Given the description of an element on the screen output the (x, y) to click on. 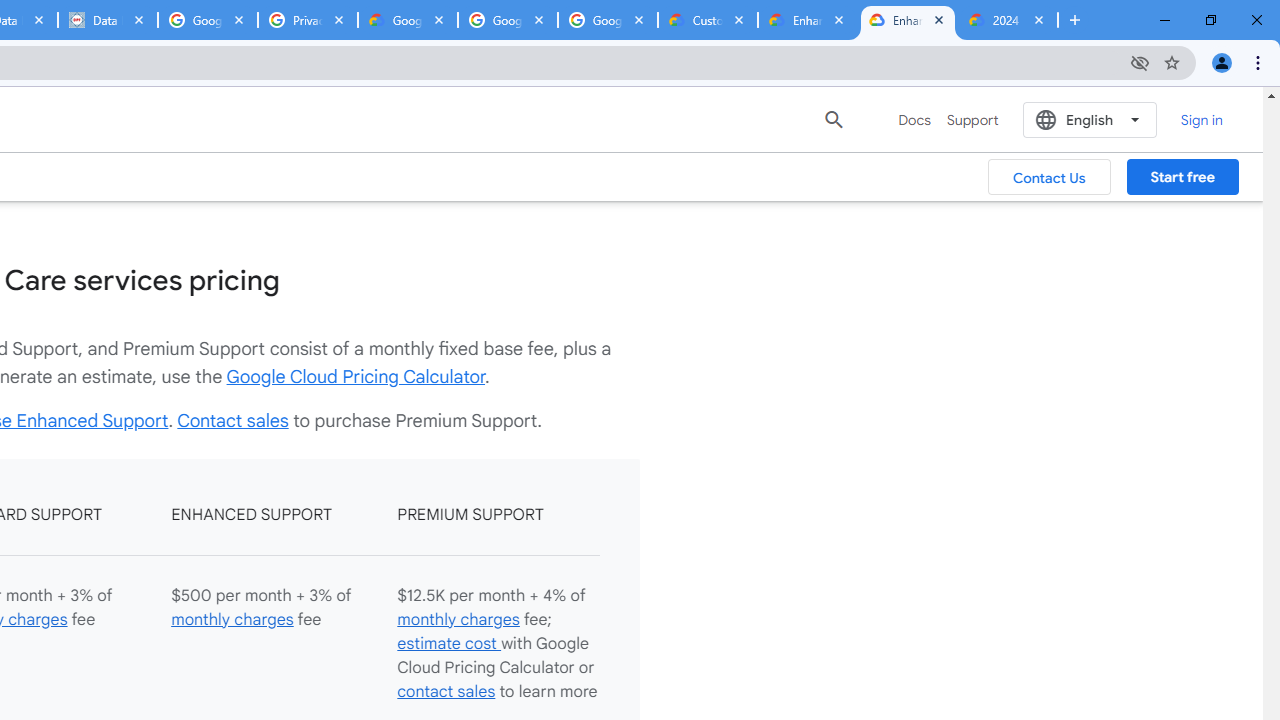
Media CDN (465, 117)
Assured Support (485, 76)
monthly charges (457, 619)
Enhanced Support | Google Cloud (907, 20)
Google Workspace - Specific Terms (508, 20)
Enhanced Support | Google Cloud (807, 20)
Google Workspace - Specific Terms (607, 20)
contact sales (446, 691)
